Given the description of an element on the screen output the (x, y) to click on. 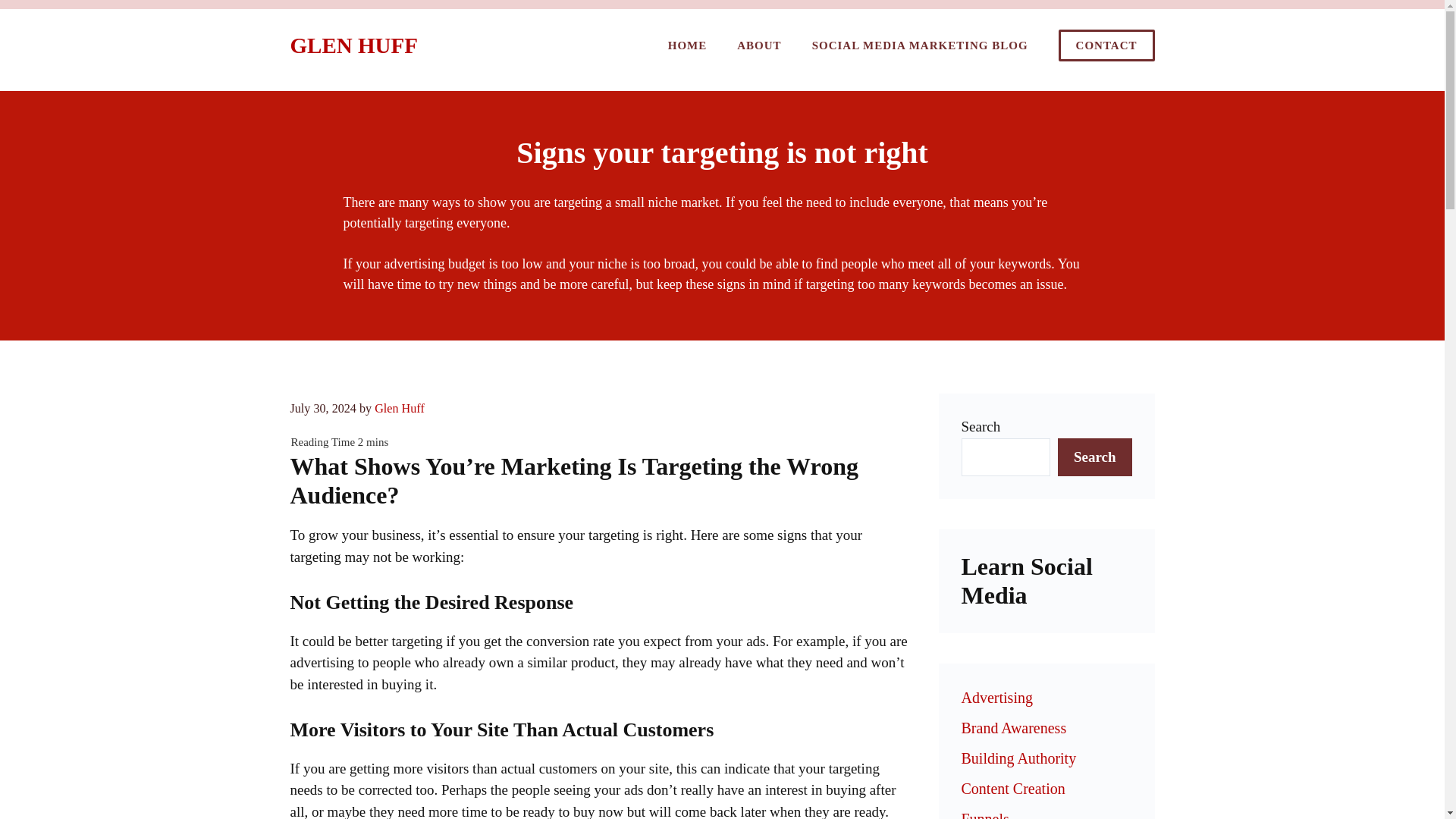
Glen Huff (399, 408)
GLEN HUFF (352, 45)
CONTACT (1106, 45)
Advertising (996, 697)
HOME (687, 44)
Brand Awareness (1013, 727)
SOCIAL MEDIA MARKETING BLOG (919, 44)
ABOUT (759, 44)
Funnels (984, 814)
View all posts by Glen Huff (399, 408)
